Given the description of an element on the screen output the (x, y) to click on. 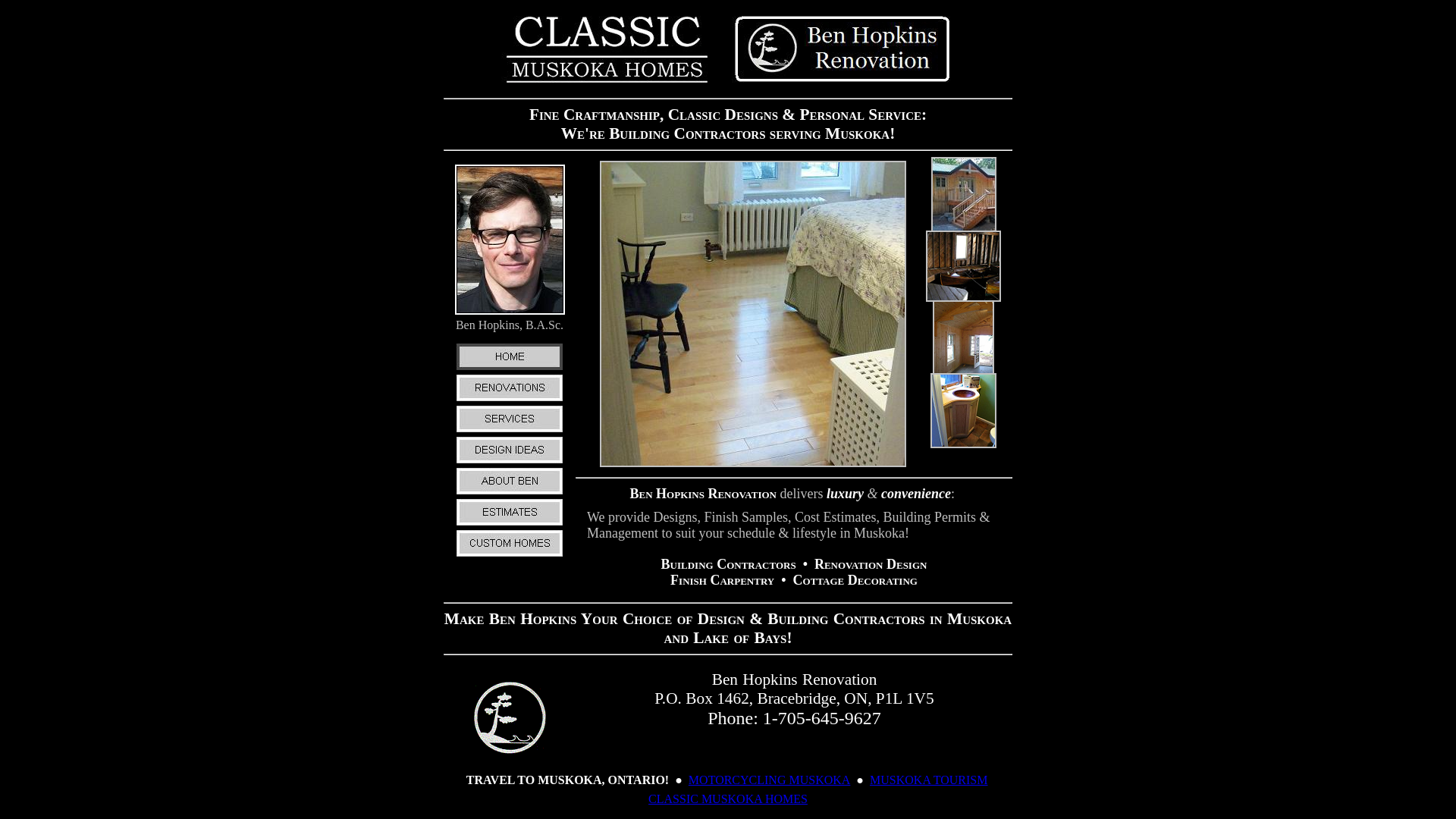
FINISH CARPENTRY: Muskoka Lakes & Lake of Bays Element type: hover (963, 443)
CLASSIC MUSKOKA HOMES Element type: hover (509, 554)
RENOVATIONS Element type: hover (509, 398)
HARDWOOD & TILE FLOORING: Muskoka Lakes & Lake of Bays Element type: hover (752, 462)
Gallery of Muskoka Renovations! Element type: hover (727, 87)
HOME REMODELLING: Muskoka Lakes & Lake of Bays Element type: hover (963, 368)
DOCK & BOATHOUSE RESTORATION: Muskoka Lakes & Lake of Bays Element type: hover (963, 297)
MUSKOKA TOURISM Element type: text (928, 779)
DESIGN IDEAS Element type: hover (509, 461)
ESTIMATES Element type: hover (509, 523)
MOTORCYCLING MUSKOKA Element type: text (769, 779)
SERVICES Element type: hover (509, 429)
CLASSIC MUSKOKA HOMES Element type: text (727, 798)
ABOUT BEN Element type: hover (509, 492)
